Given the description of an element on the screen output the (x, y) to click on. 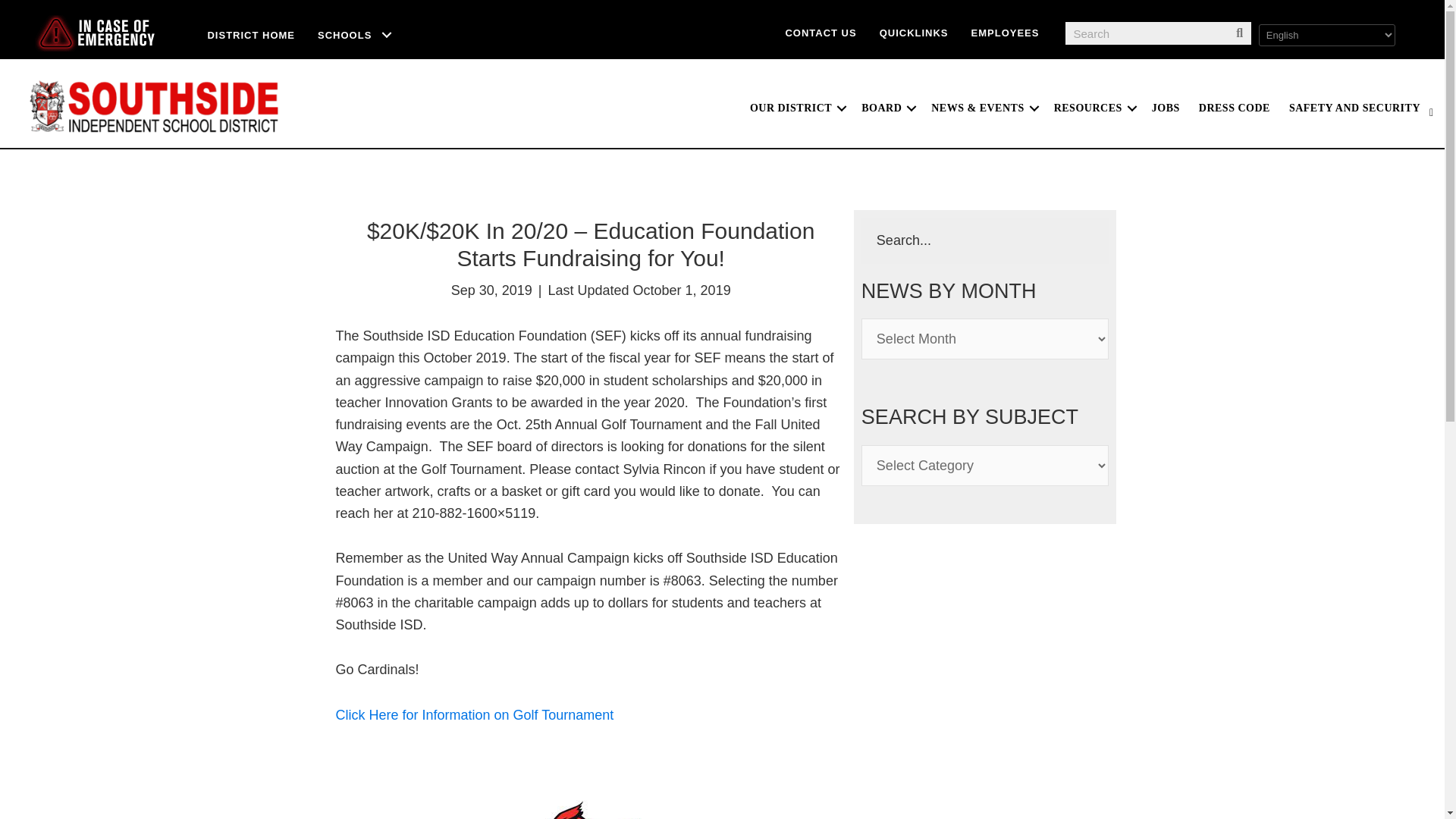
QUICKLINKS (913, 32)
BOARD (886, 108)
OUR DISTRICT (796, 108)
CONTACT US (820, 32)
SCHOOLS (354, 34)
EMPLOYEES (1005, 32)
DISTRICT HOME (250, 34)
